Given the description of an element on the screen output the (x, y) to click on. 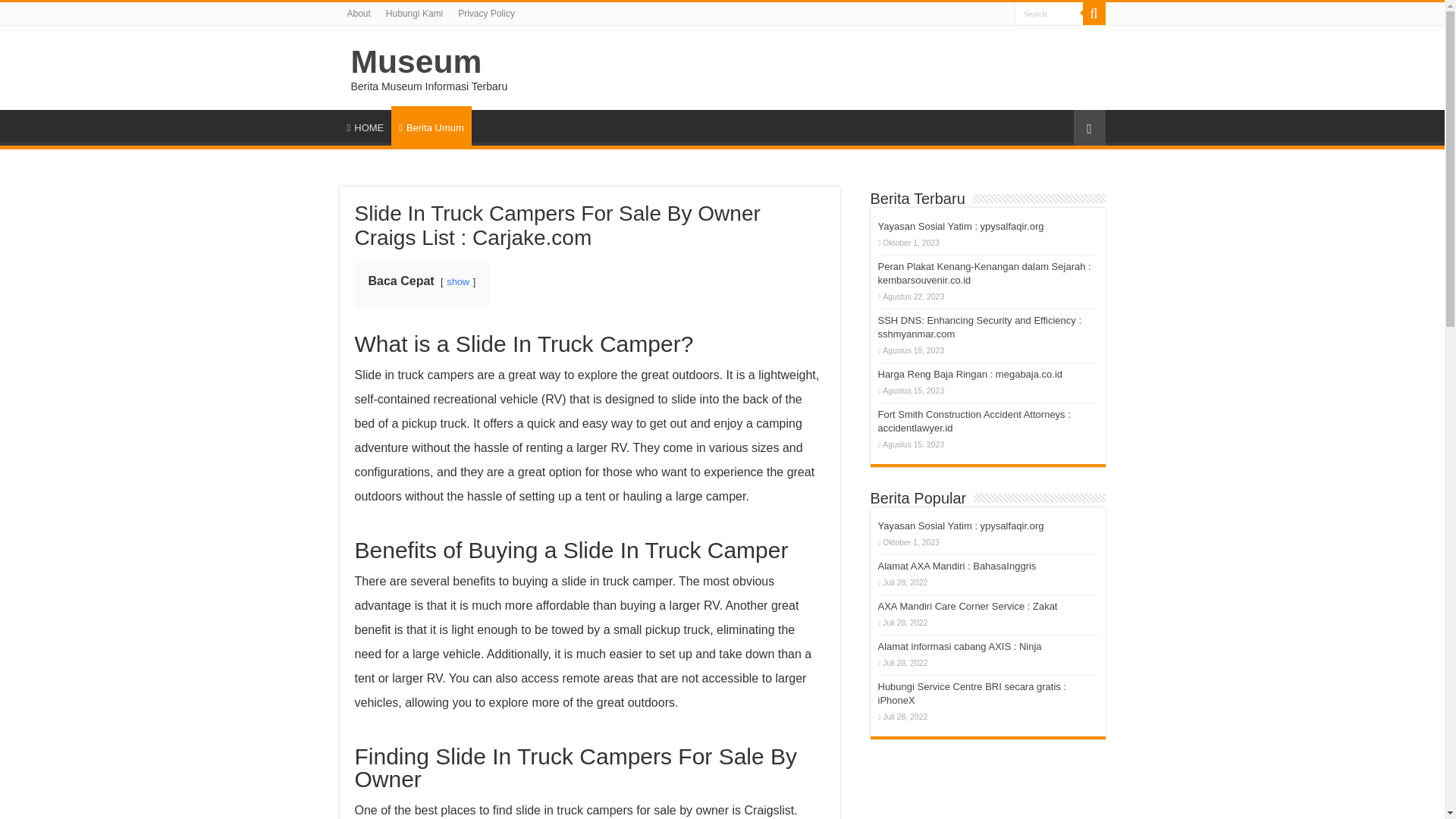
Museum (415, 61)
Search (1048, 13)
Search (1048, 13)
show (457, 281)
AXA Mandiri Care Corner Service : Zakat (967, 605)
Berita Umum (431, 125)
SSH DNS: Enhancing Security and Efficiency : sshmyanmar.com (979, 326)
About (358, 13)
Hubungi Kami (413, 13)
Search (1048, 13)
Yayasan Sosial Yatim : ypysalfaqir.org (960, 225)
Alamat informasi cabang AXIS : Ninja (959, 645)
Harga Reng Baja Ringan : megabaja.co.id (969, 374)
HOME (365, 125)
